Given the description of an element on the screen output the (x, y) to click on. 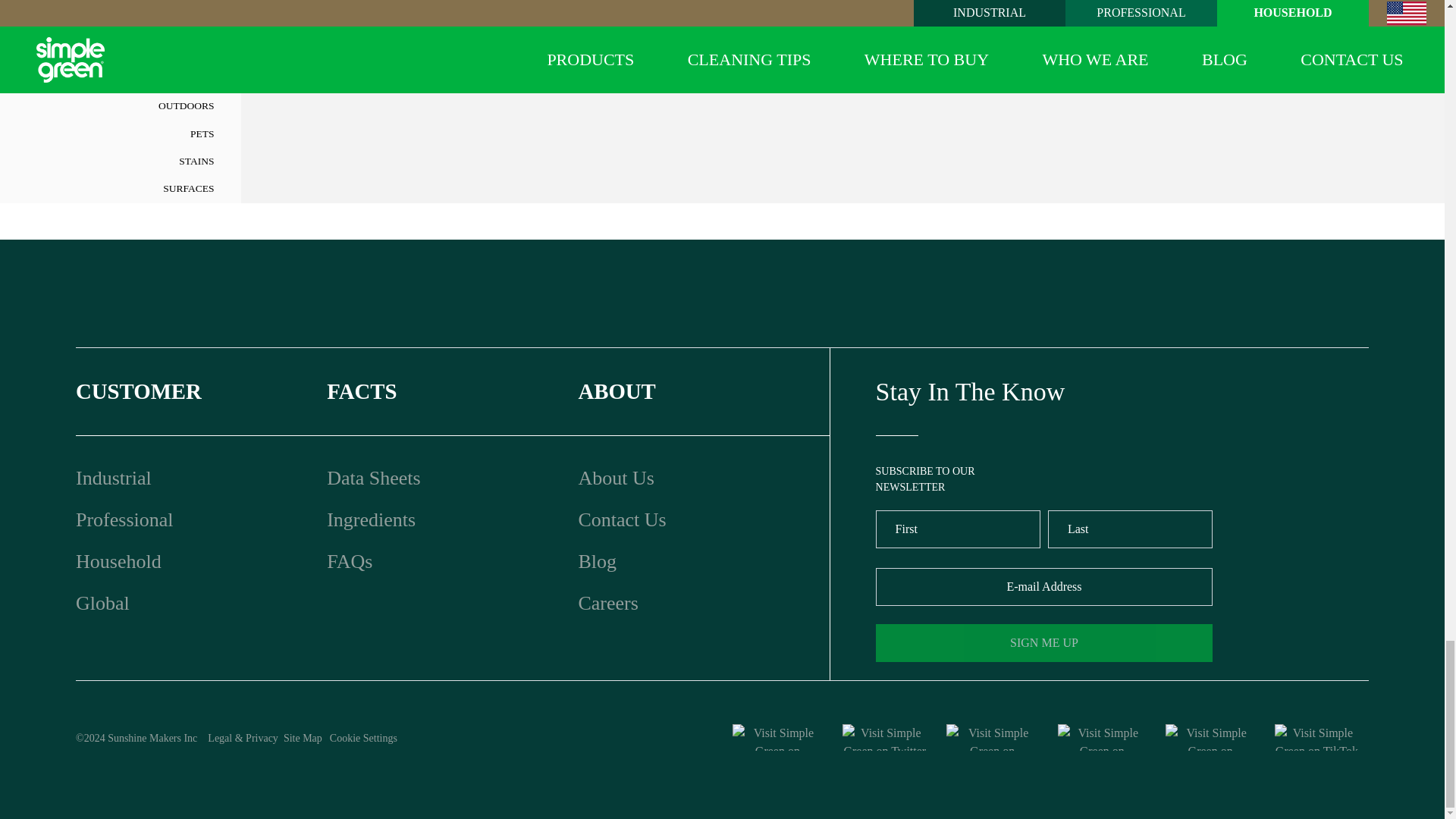
SIGN ME UP (1044, 642)
